Given the description of an element on the screen output the (x, y) to click on. 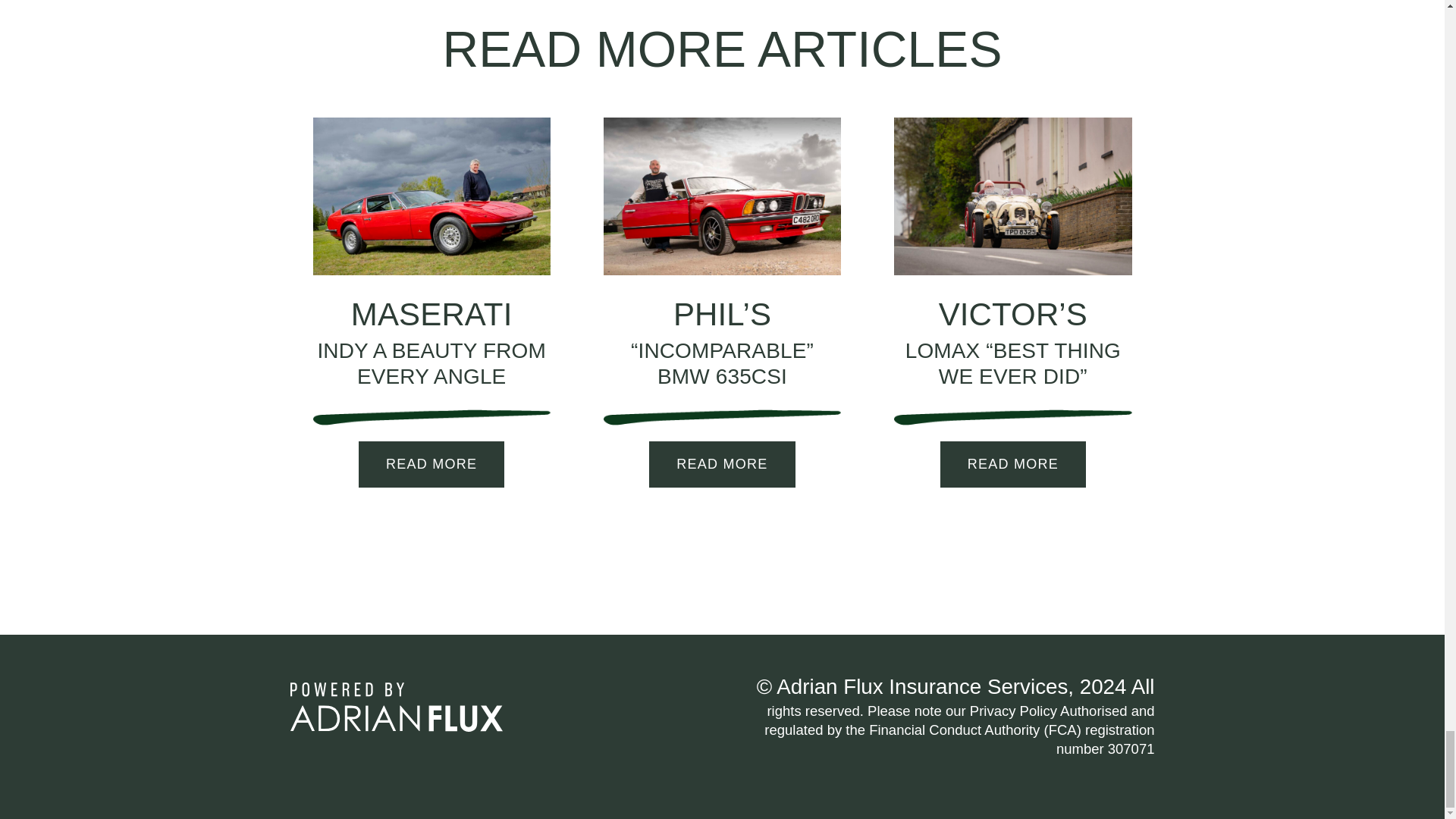
READ MORE (721, 464)
READ MORE (1013, 464)
MASERATI INDY A BEAUTY FROM EVERY ANGLE (431, 342)
READ MORE (430, 464)
